Given the description of an element on the screen output the (x, y) to click on. 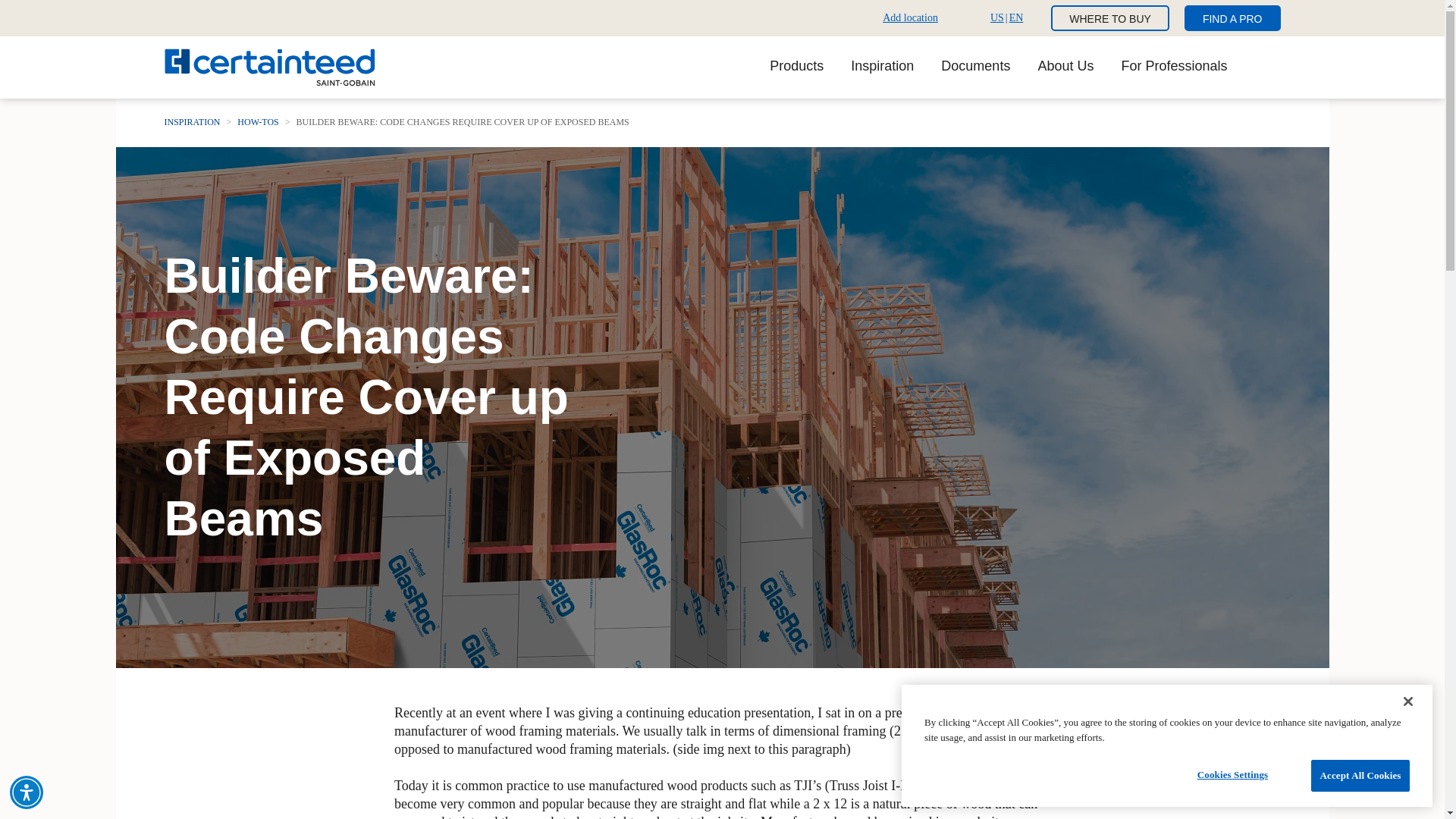
Accessibility Menu (26, 792)
WHERE TO BUY (1110, 17)
About Us (1064, 66)
Documents (975, 66)
FIND A PRO (1233, 17)
Inspiration (906, 18)
For Professionals (882, 66)
Products (1174, 66)
